Given the description of an element on the screen output the (x, y) to click on. 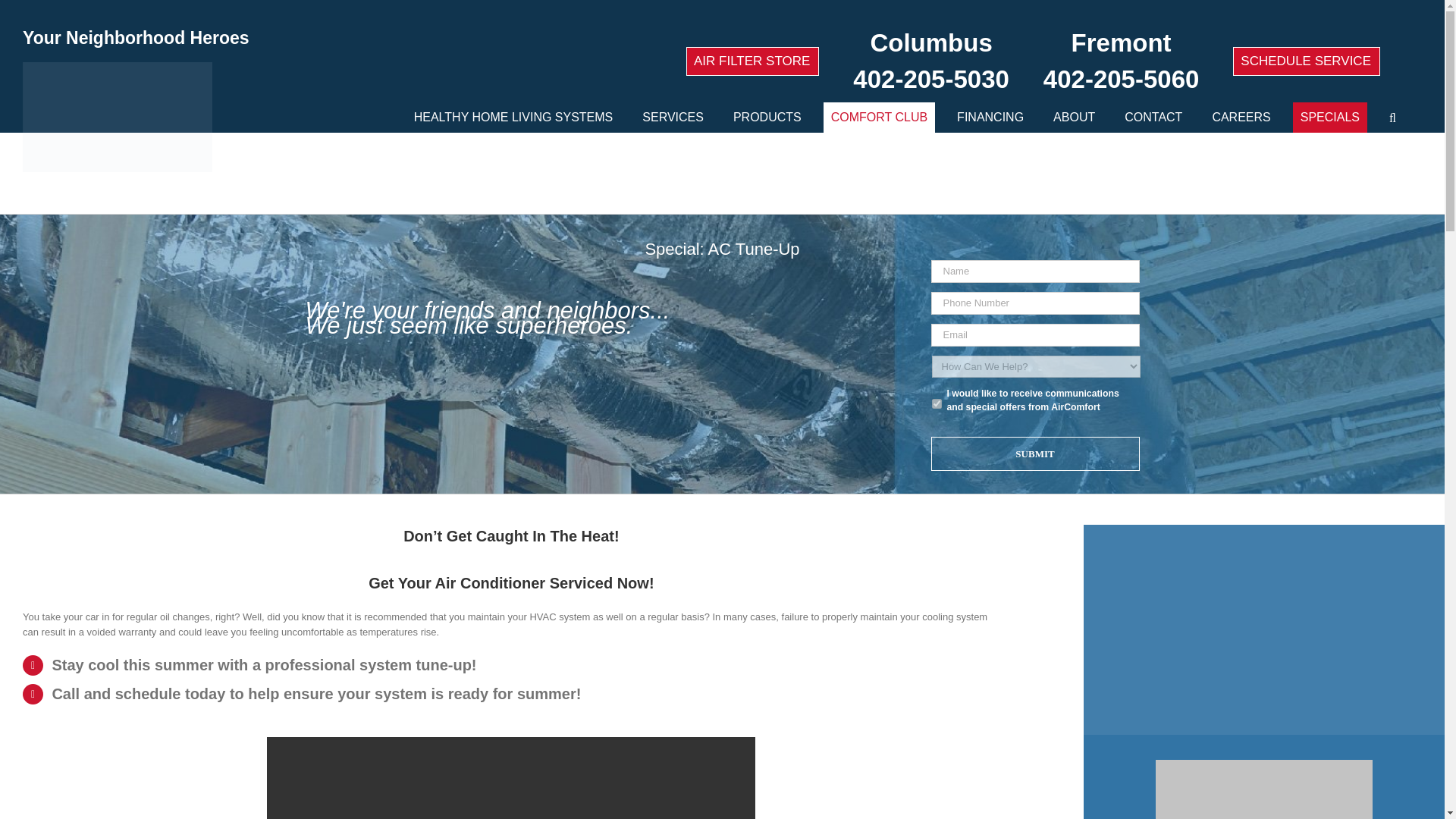
402-205-5030 (931, 78)
PRODUCTS (767, 117)
Submit (1035, 453)
COMFORT CLUB (879, 117)
FINANCING (989, 117)
SERVICES (672, 117)
ABOUT (1073, 117)
402-205-5060 (1121, 78)
AIR FILTER STORE (751, 61)
